Given the description of an element on the screen output the (x, y) to click on. 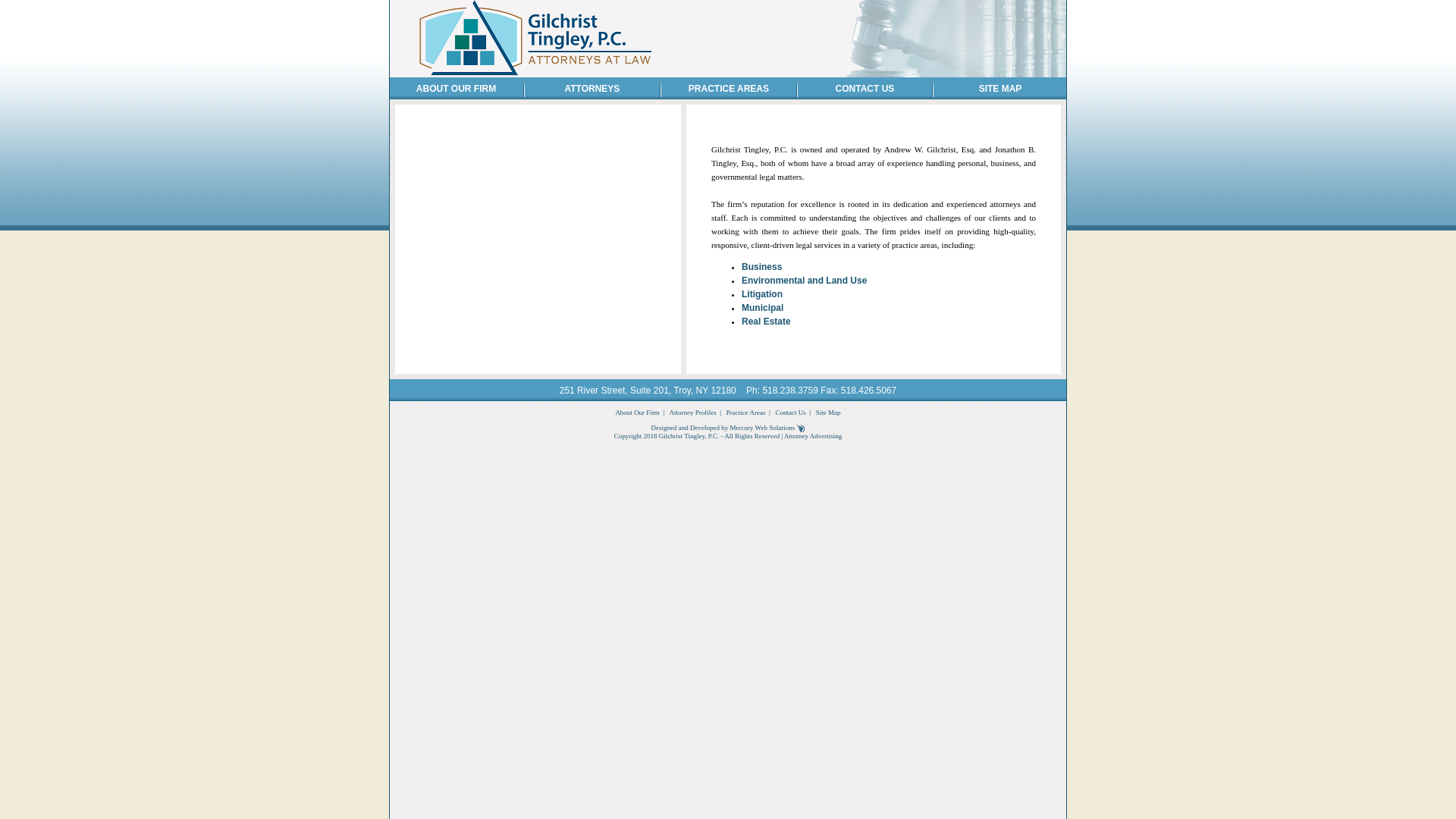
ABOUT OUR FIRM (456, 88)
Litigation (762, 293)
Practice Areas (745, 411)
Business (761, 266)
Site Map (828, 411)
Attorney Profiles (692, 411)
Environmental and Land Use (803, 279)
PRACTICE AREAS (728, 88)
Contact Us (791, 411)
Designed and Developed by Mercury Web Solutions (727, 426)
SITE MAP (1000, 88)
CONTACT US (865, 88)
Real Estate (765, 320)
About Our Firm (636, 411)
ATTORNEYS (592, 88)
